Given the description of an element on the screen output the (x, y) to click on. 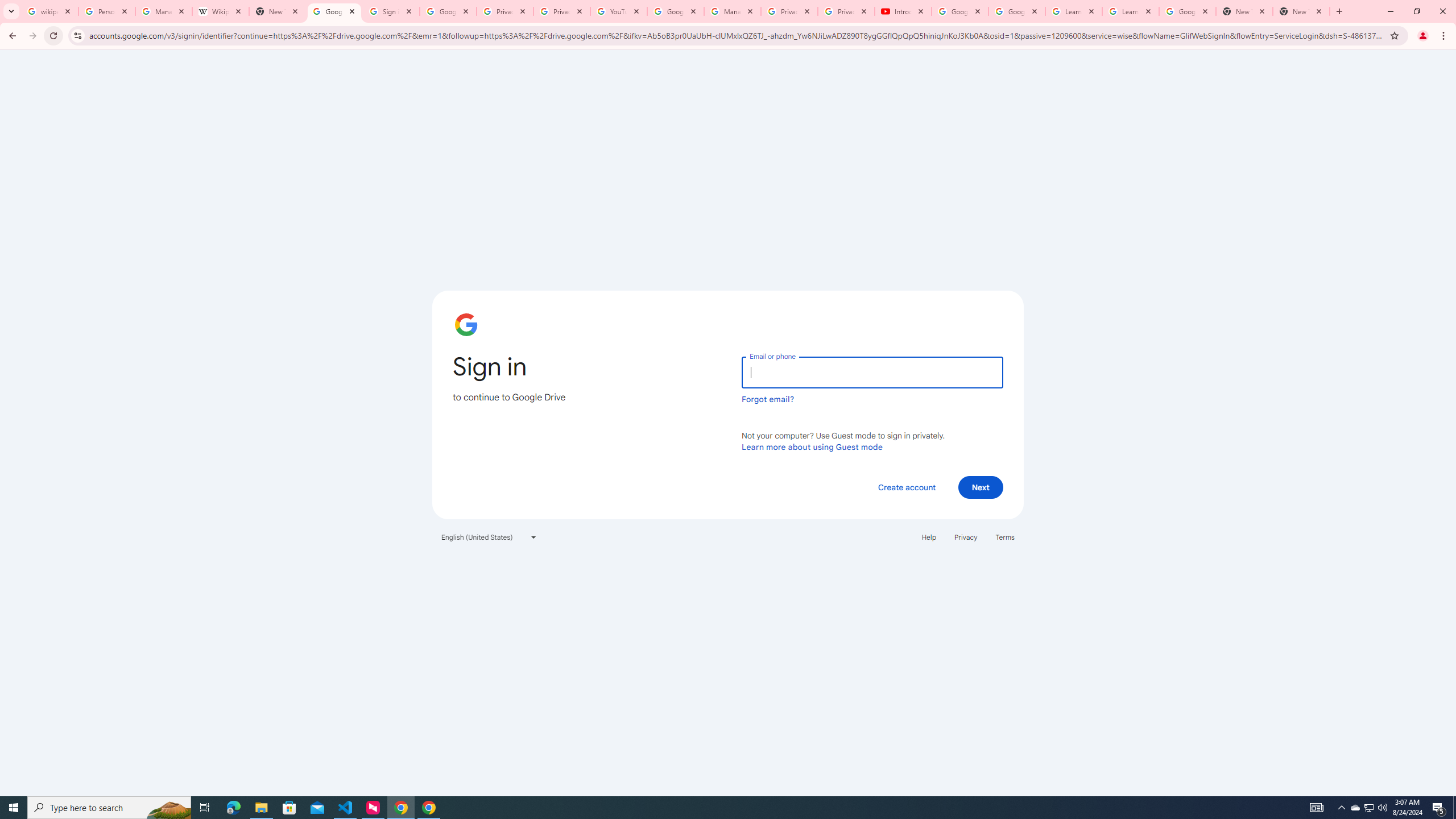
English (United States) (489, 536)
Wikipedia:Edit requests - Wikipedia (220, 11)
Forgot email? (767, 398)
Personalization & Google Search results - Google Search Help (105, 11)
Google Drive: Sign-in (447, 11)
